Given the description of an element on the screen output the (x, y) to click on. 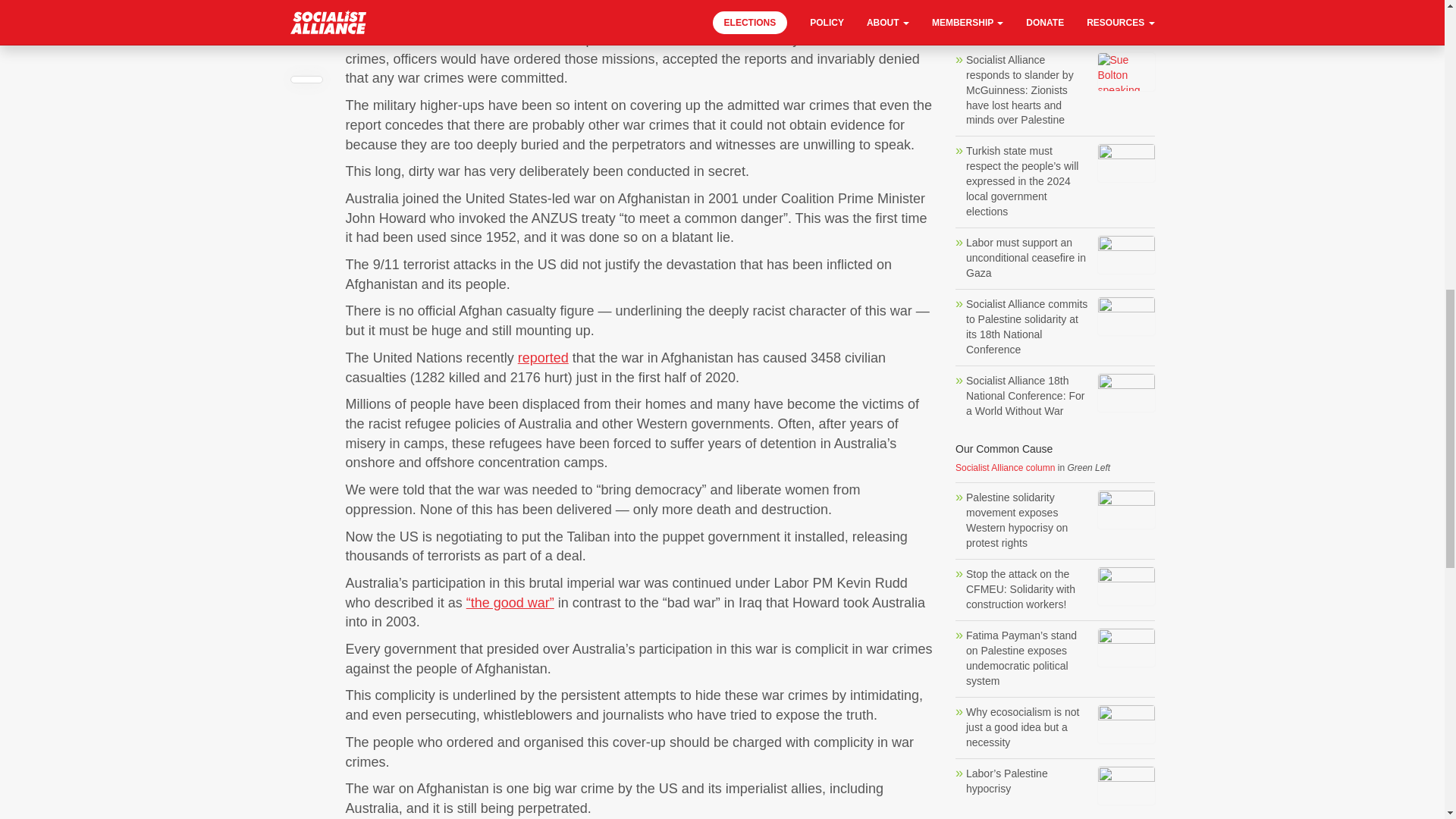
reported (543, 357)
